Given the description of an element on the screen output the (x, y) to click on. 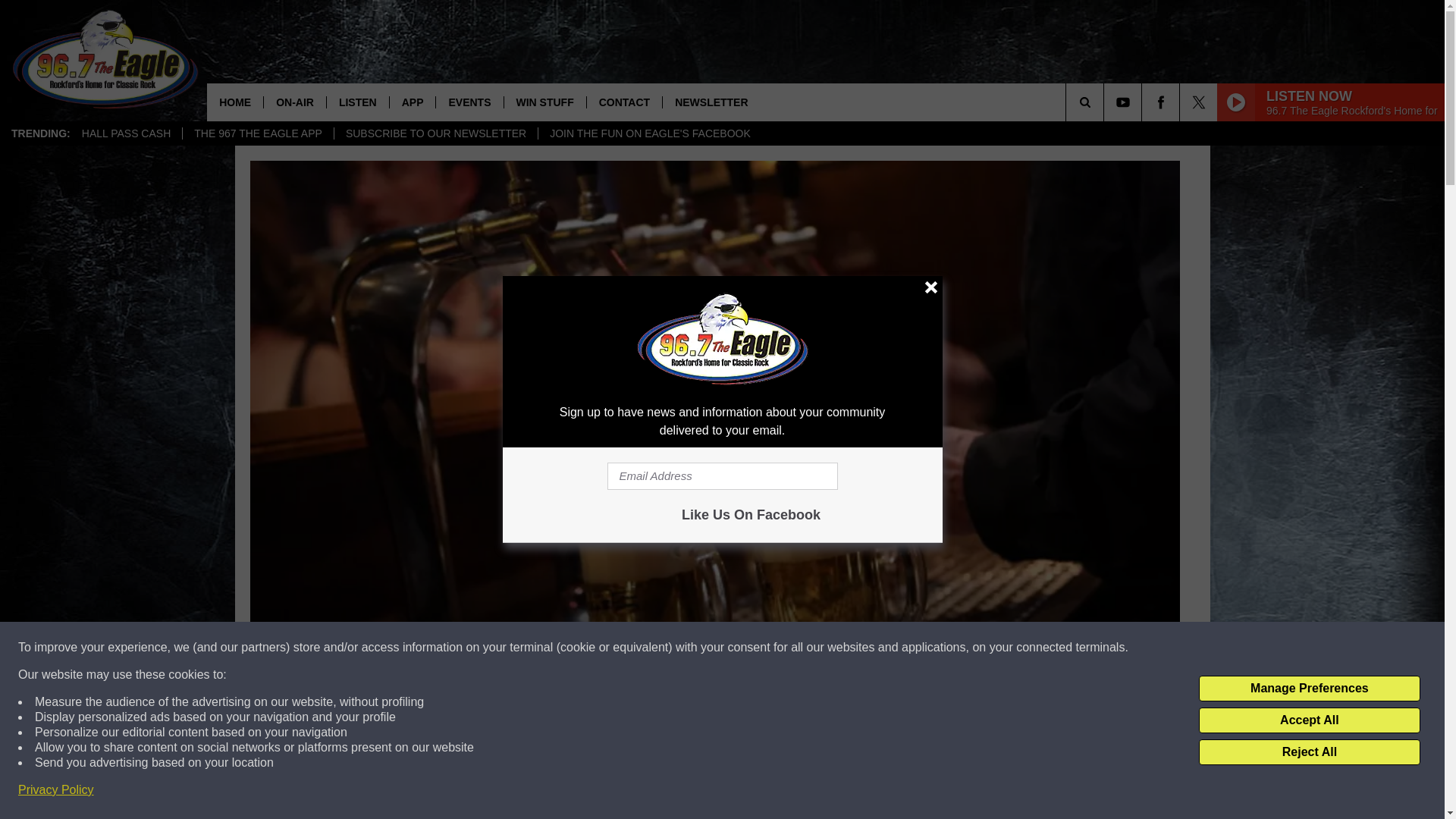
Privacy Policy (55, 789)
HALL PASS CASH (126, 133)
Manage Preferences (1309, 688)
JOIN THE FUN ON EAGLE'S FACEBOOK (649, 133)
ON-AIR (294, 102)
CONTACT (624, 102)
Email Address (722, 475)
Reject All (1309, 751)
WIN STUFF (544, 102)
THE 967 THE EAGLE APP (257, 133)
SEARCH (1106, 102)
NEWSLETTER (711, 102)
LISTEN (357, 102)
Share on Twitter (912, 791)
SEARCH (1106, 102)
